Given the description of an element on the screen output the (x, y) to click on. 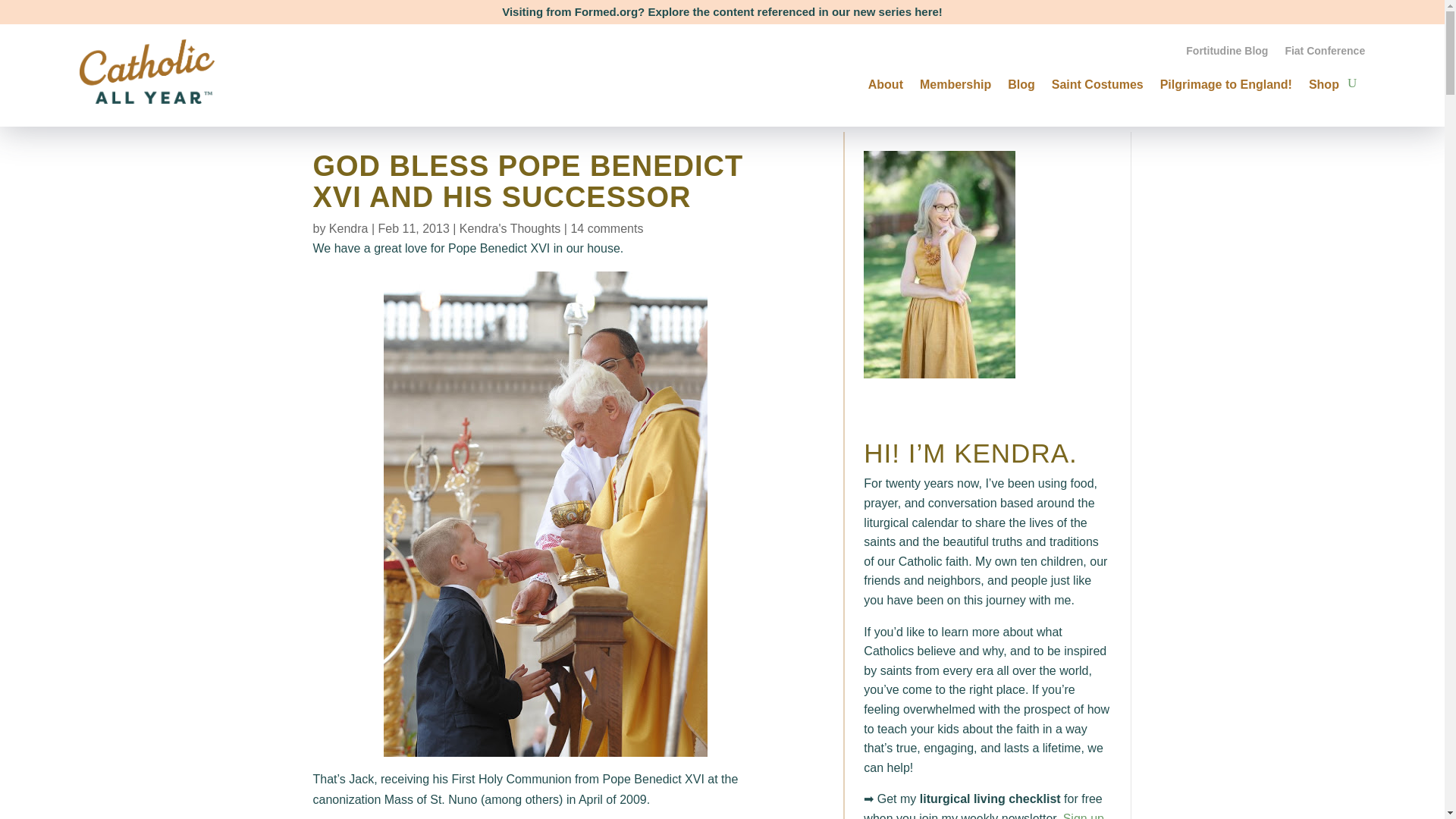
Posts by Kendra (348, 228)
Fiat Conference (1324, 53)
Kendra (348, 228)
Membership (955, 81)
14 comments (606, 228)
Pilgrimage to England! (1226, 81)
Kendra's Thoughts (510, 228)
Blog (1021, 81)
Fortitudine Blog (1227, 53)
About (884, 81)
Shop (1323, 81)
Saint Costumes (1096, 81)
CAY-logo-2color-main (147, 71)
